Given the description of an element on the screen output the (x, y) to click on. 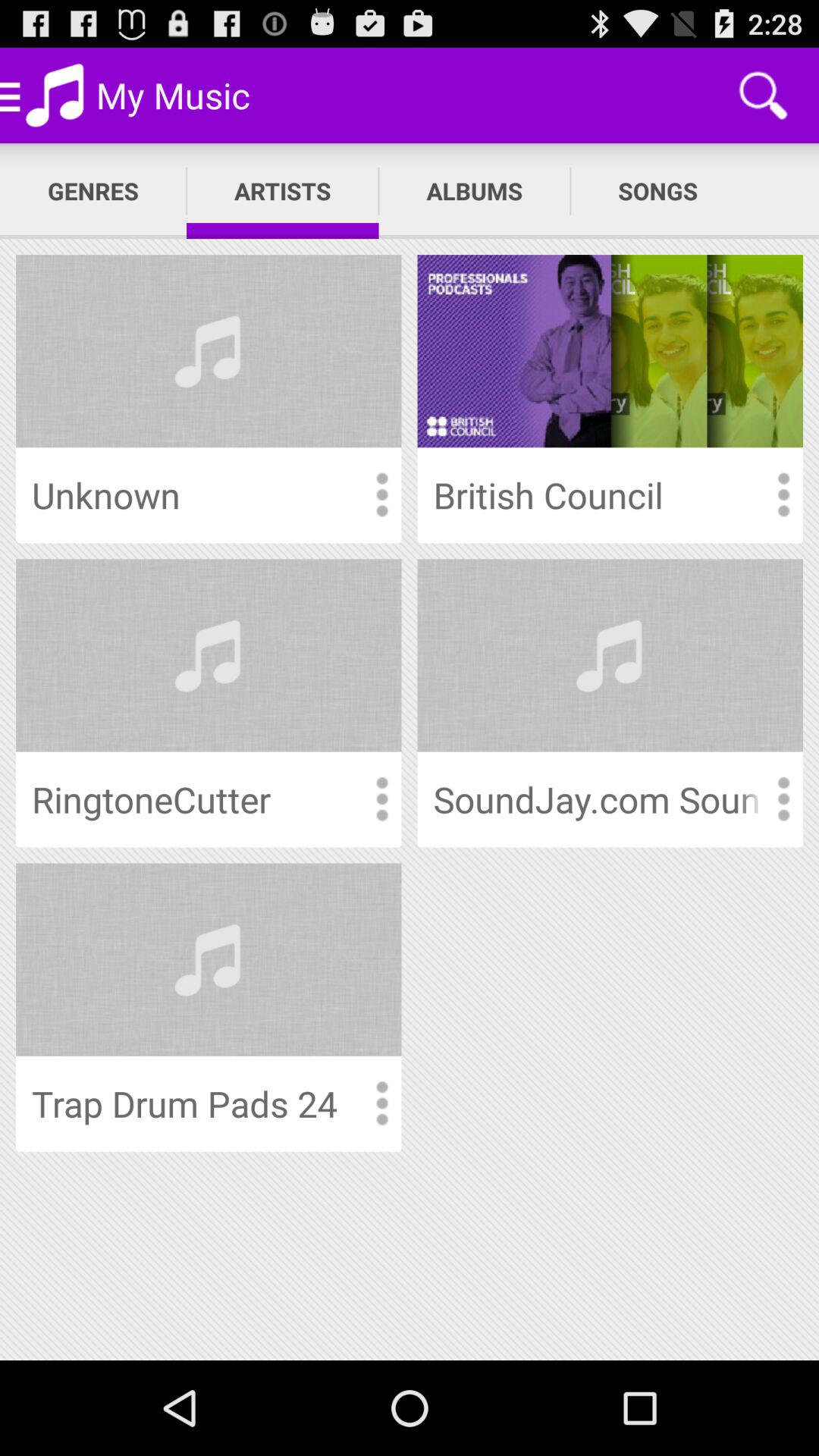
click here for more (783, 495)
